Given the description of an element on the screen output the (x, y) to click on. 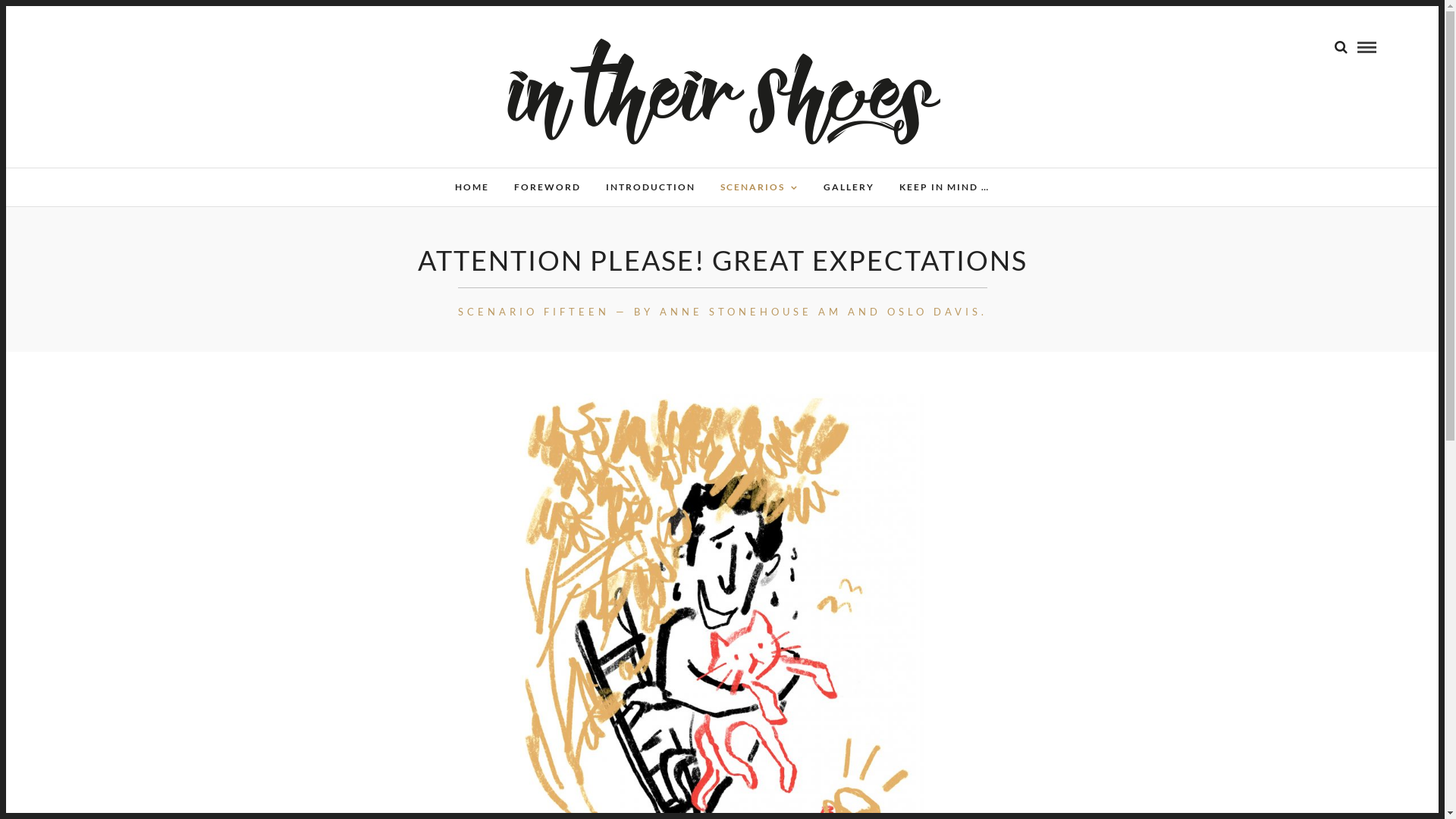
FOREWORD Element type: text (547, 187)
GALLERY Element type: text (848, 187)
SCENARIOS Element type: text (759, 187)
INTRODUCTION Element type: text (650, 187)
HOME Element type: text (471, 187)
